Given the description of an element on the screen output the (x, y) to click on. 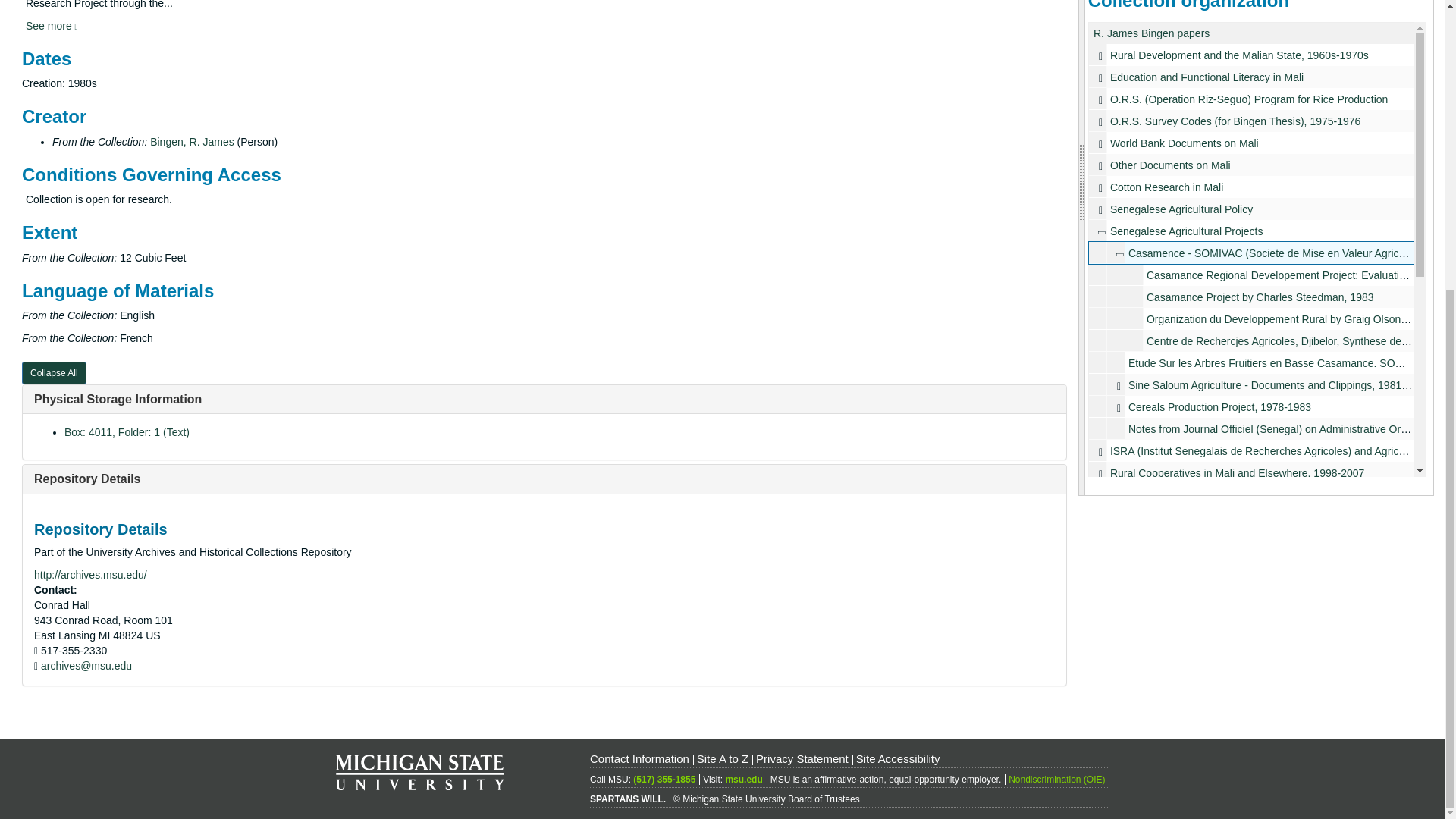
Bingen, R. James (191, 141)
R. James Bingen papers (1151, 33)
See more (52, 25)
Education and Functional Literacy in Mali (1206, 77)
Other Documents on Mali (1251, 164)
Physical Storage Information (117, 399)
Senegalese Agricultural Projects (1251, 230)
Cotton Research in Mali (1251, 187)
Rural Development and the Malian State, 1960s-1970s (1238, 55)
Rural Development and the Malian State (1251, 55)
Casamance Regional Developement Project: Evaluation Report (1251, 274)
Senegalese Agricultural Policy (1251, 209)
Repository Details (86, 478)
Casamance Project by Charles Steedman (1251, 296)
